Given the description of an element on the screen output the (x, y) to click on. 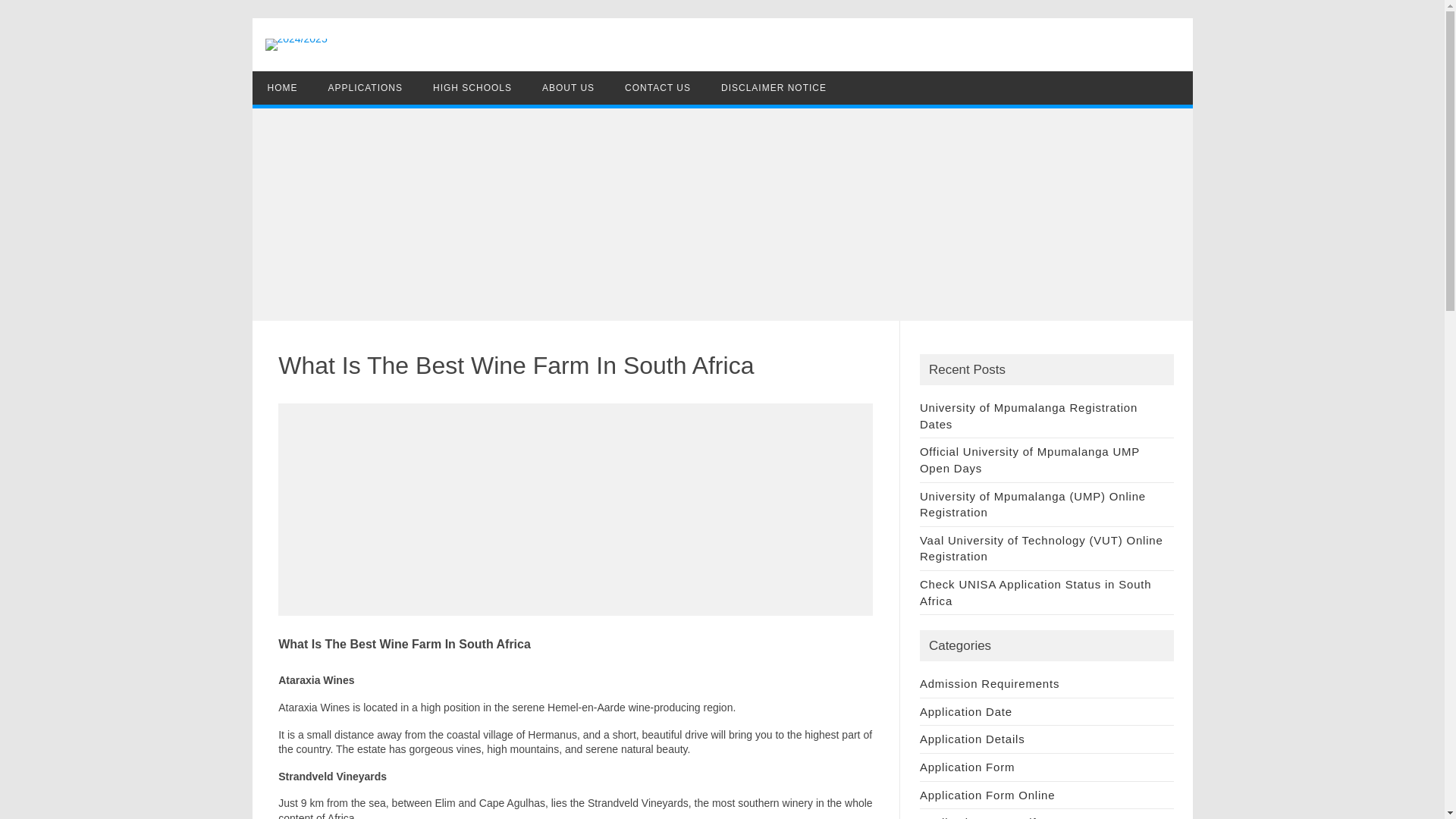
DISCLAIMER NOTICE (773, 87)
University of Mpumalanga Registration Dates (1028, 415)
APPLICATIONS (364, 87)
Application Details (972, 738)
Application Form pdf (978, 817)
Application Date (965, 711)
Official University of Mpumalanga UMP Open Days (1030, 460)
Admission Requirements (989, 683)
